Given the description of an element on the screen output the (x, y) to click on. 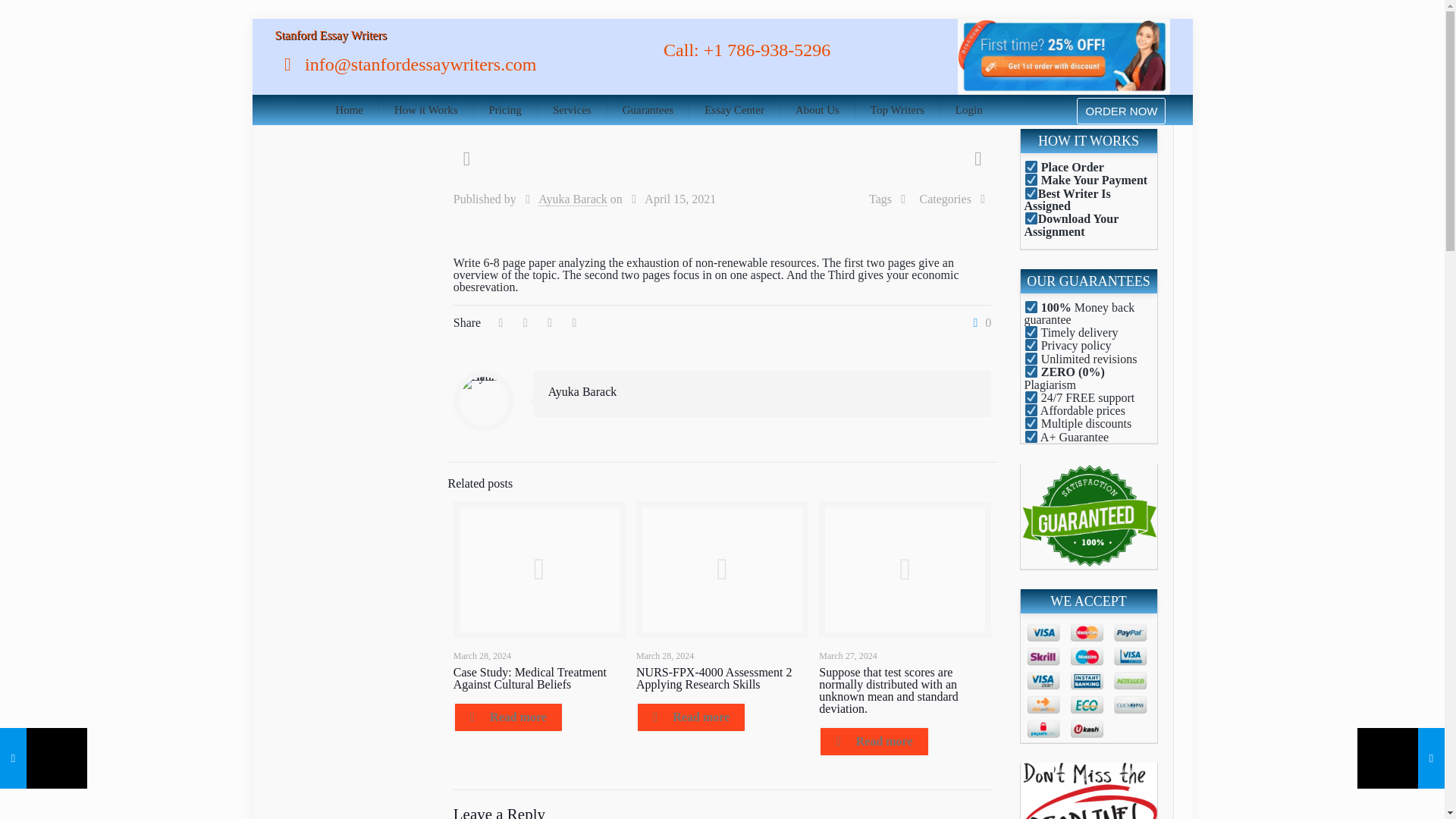
Top Writers (898, 110)
Services (572, 110)
Login (968, 110)
About Us (818, 110)
Pricing (505, 110)
ORDER NOW (1121, 110)
Essay Center (734, 110)
Guarantees (647, 110)
Home (349, 110)
Stanford Essay Writers (330, 34)
How it Works (426, 110)
